Given the description of an element on the screen output the (x, y) to click on. 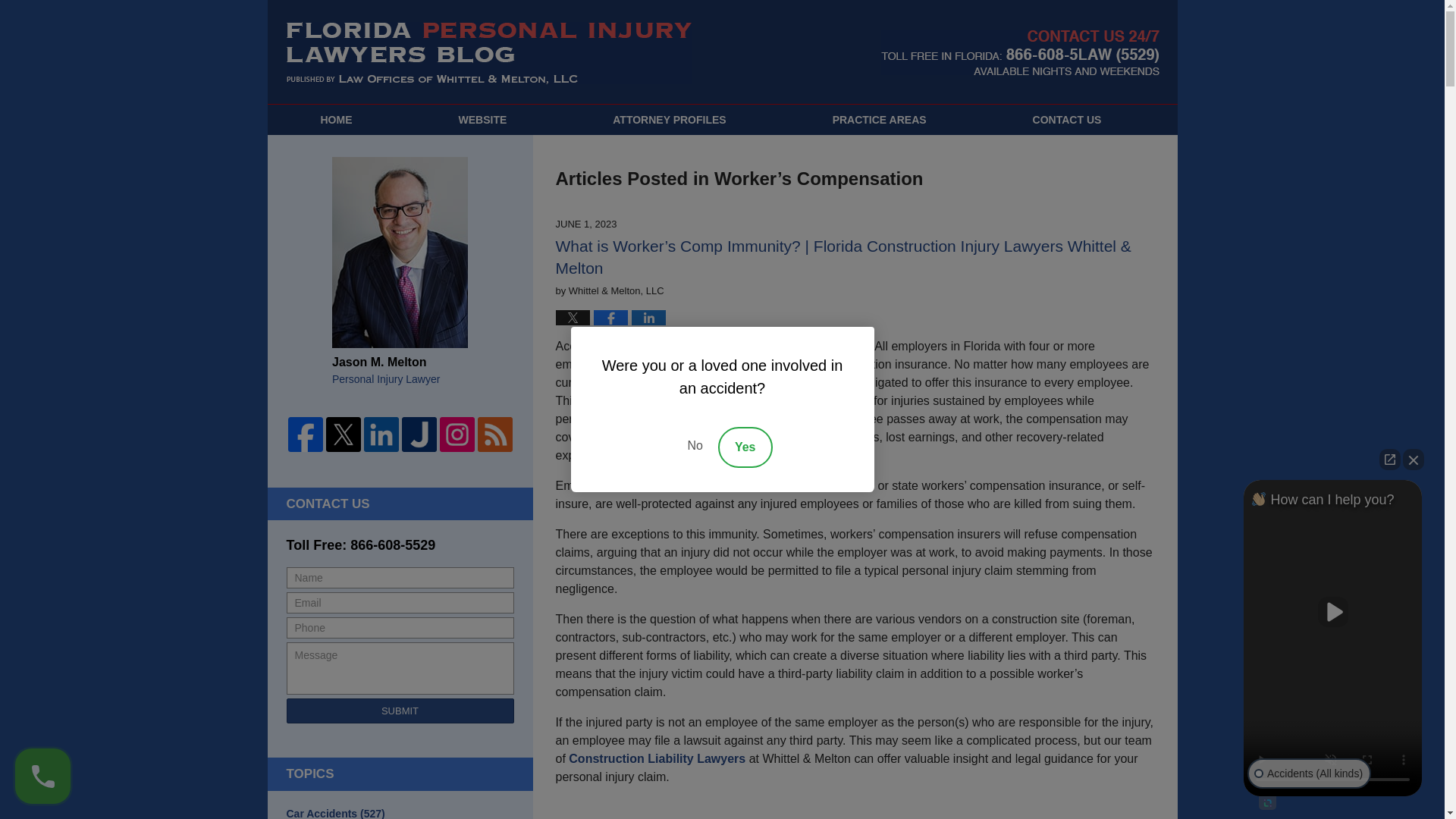
CONTACT US (1066, 119)
ATTORNEY PROFILES (668, 119)
PRACTICE AREAS (878, 119)
WEBSITE (481, 119)
HOME (335, 119)
Construction Liability Lawyers (657, 758)
Florida Personal Injury Lawyers Blog (488, 53)
